Given the description of an element on the screen output the (x, y) to click on. 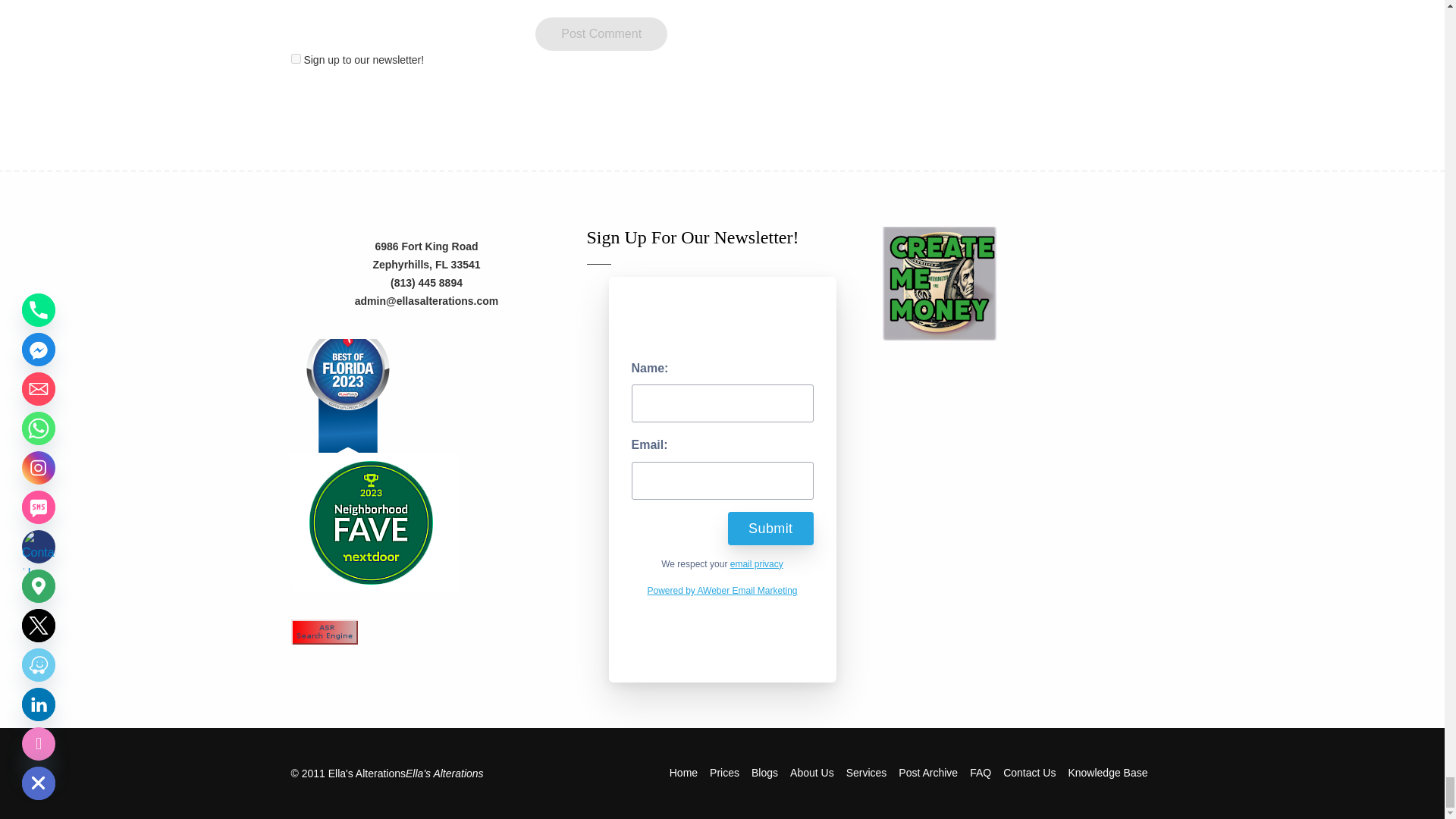
Submit (770, 528)
Post Comment (600, 33)
1 (296, 58)
